Given the description of an element on the screen output the (x, y) to click on. 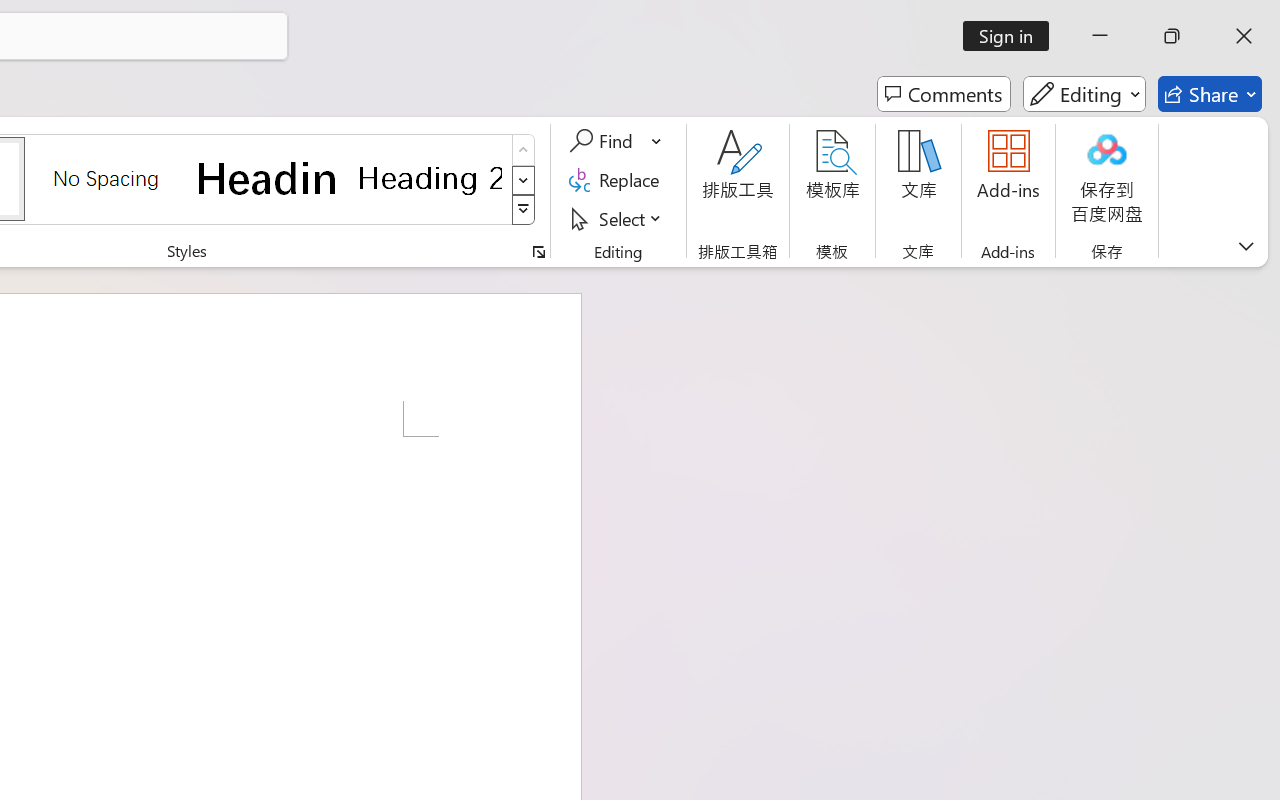
Sign in (1012, 35)
